Given the description of an element on the screen output the (x, y) to click on. 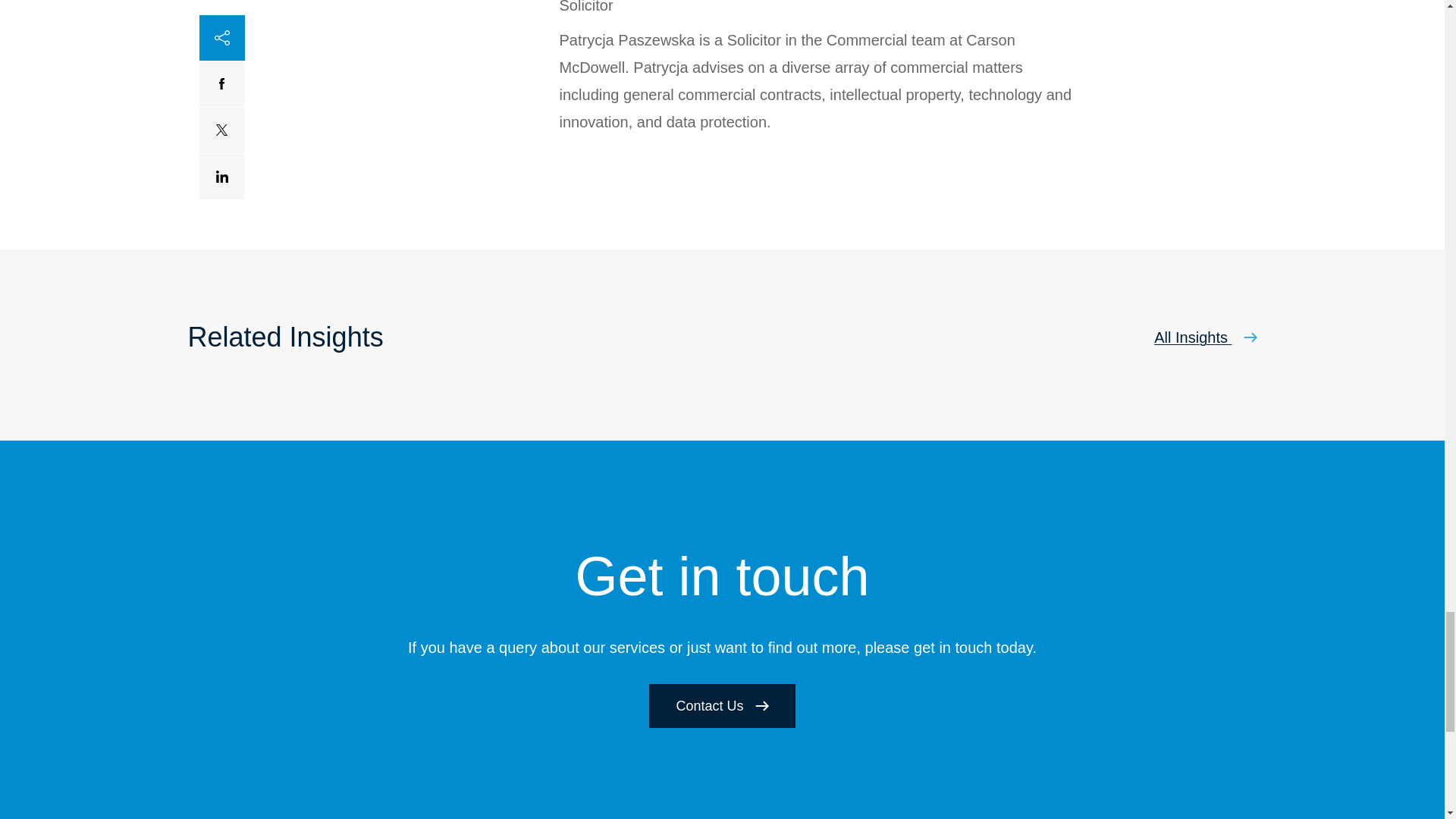
All Insights (1205, 337)
Contact Us (721, 705)
